Given the description of an element on the screen output the (x, y) to click on. 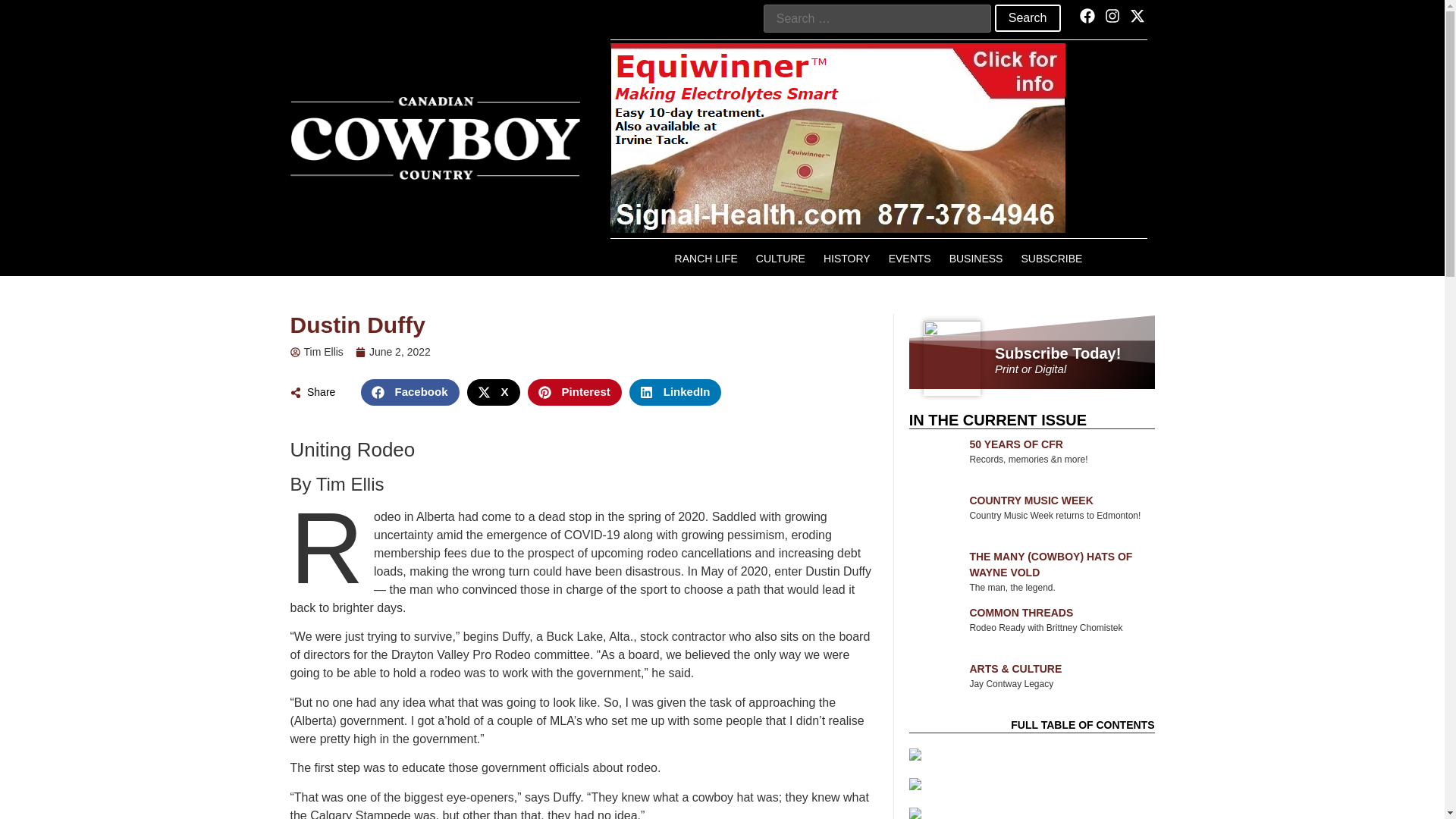
HISTORY (846, 258)
RANCH LIFE (705, 258)
Search (1027, 17)
EVENTS (909, 258)
CULTURE (779, 258)
SUBSCRIBE (1050, 258)
Search (1027, 17)
BUSINESS (975, 258)
Search (1027, 17)
